Given the description of an element on the screen output the (x, y) to click on. 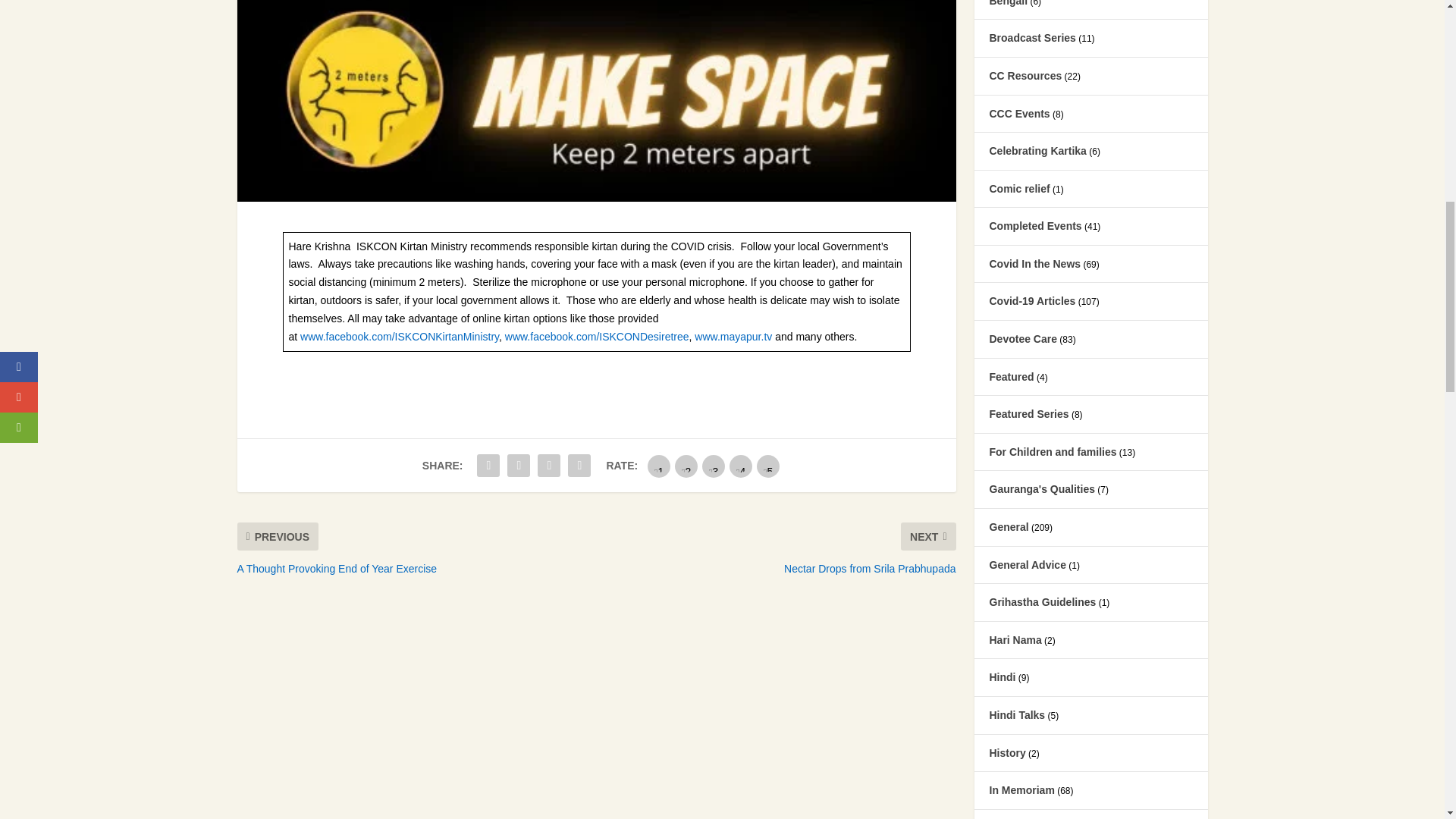
gorgeous (767, 466)
regular (713, 466)
bad (658, 466)
poor (686, 466)
good (740, 466)
